Given the description of an element on the screen output the (x, y) to click on. 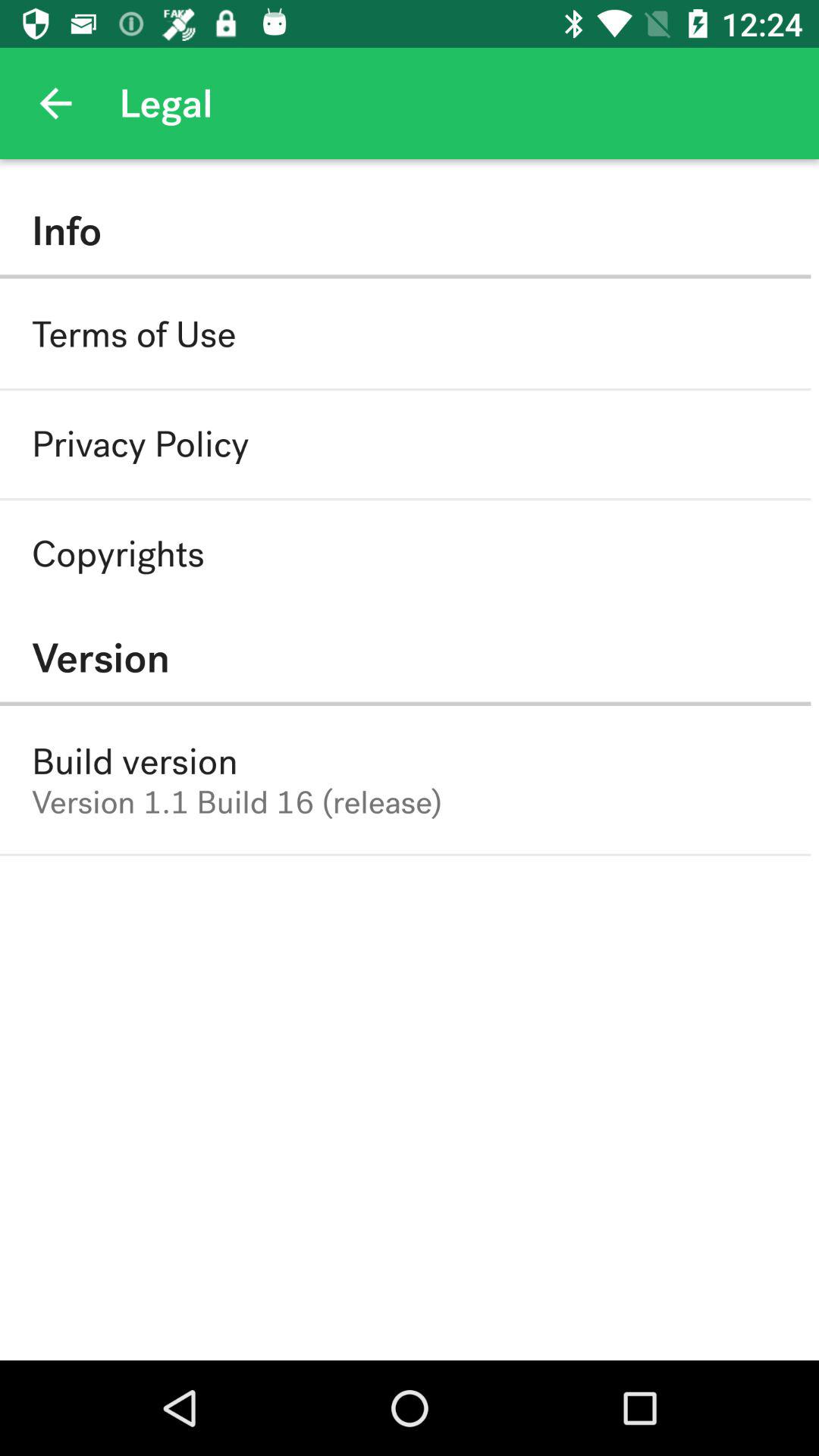
turn on the icon next to the legal (55, 103)
